Given the description of an element on the screen output the (x, y) to click on. 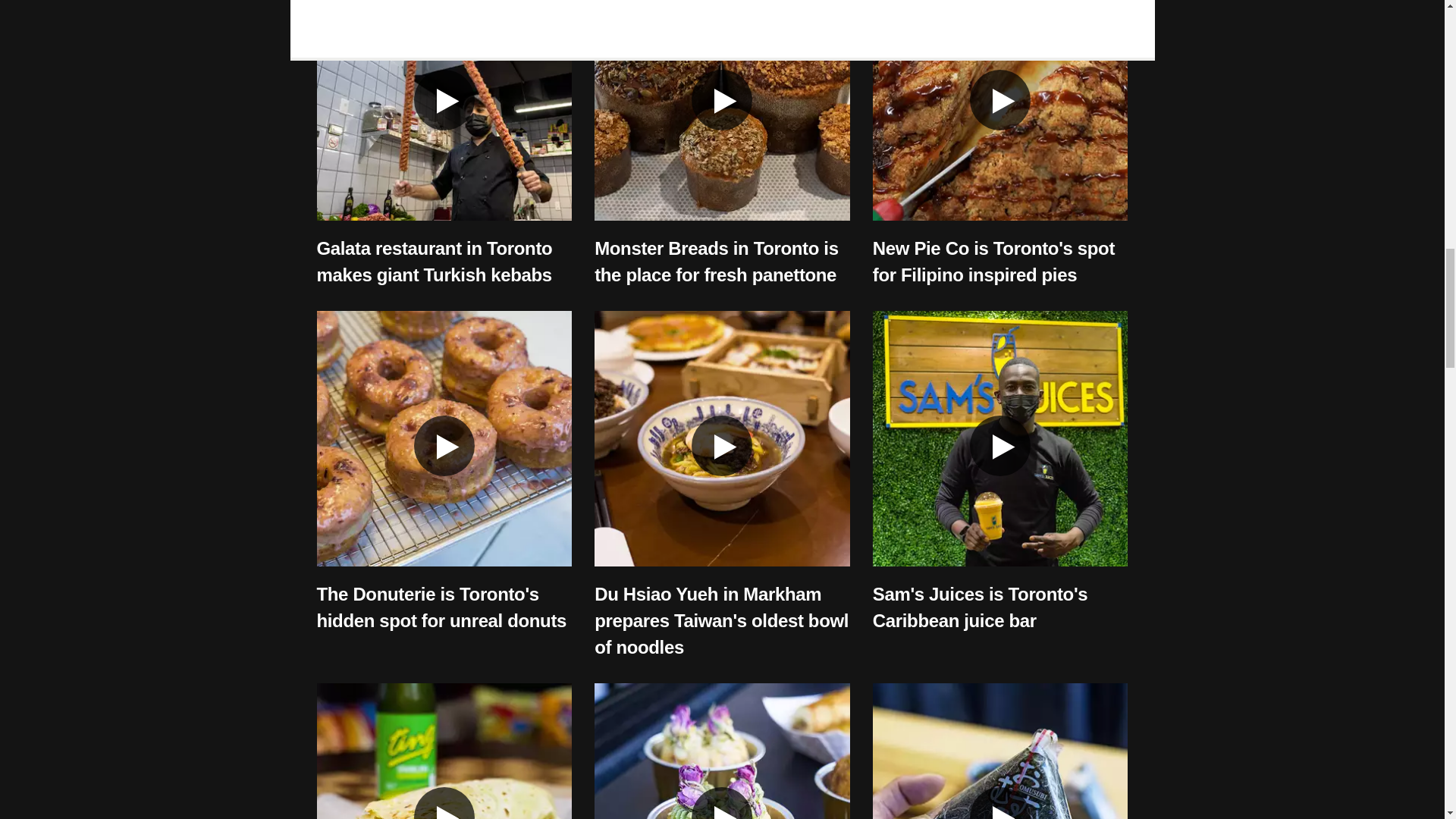
Sam's Juices is Toronto's Caribbean juice bar (979, 606)
Galata restaurant in Toronto makes giant Turkish kebabs (435, 261)
Monster Breads in Toronto is the place for fresh panettone (716, 261)
The Donuterie is Toronto's hidden spot for unreal donuts (442, 606)
New Pie Co is Toronto's spot for Filipino inspired pies (993, 261)
